Given the description of an element on the screen output the (x, y) to click on. 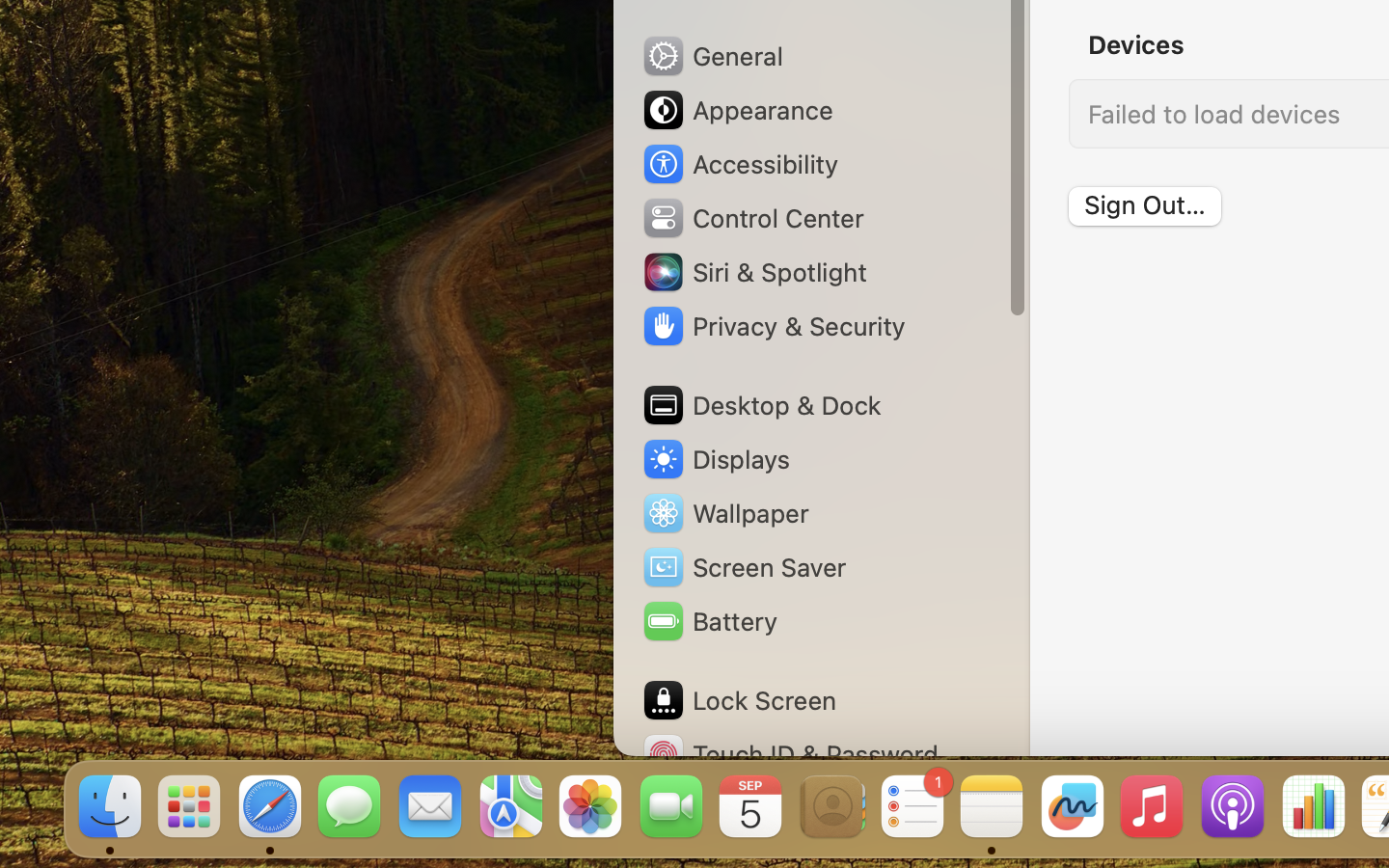
Touch ID & Password Element type: AXStaticText (789, 754)
Privacy & Security Element type: AXStaticText (772, 325)
Lock Screen Element type: AXStaticText (738, 700)
Appearance Element type: AXStaticText (736, 109)
